Given the description of an element on the screen output the (x, y) to click on. 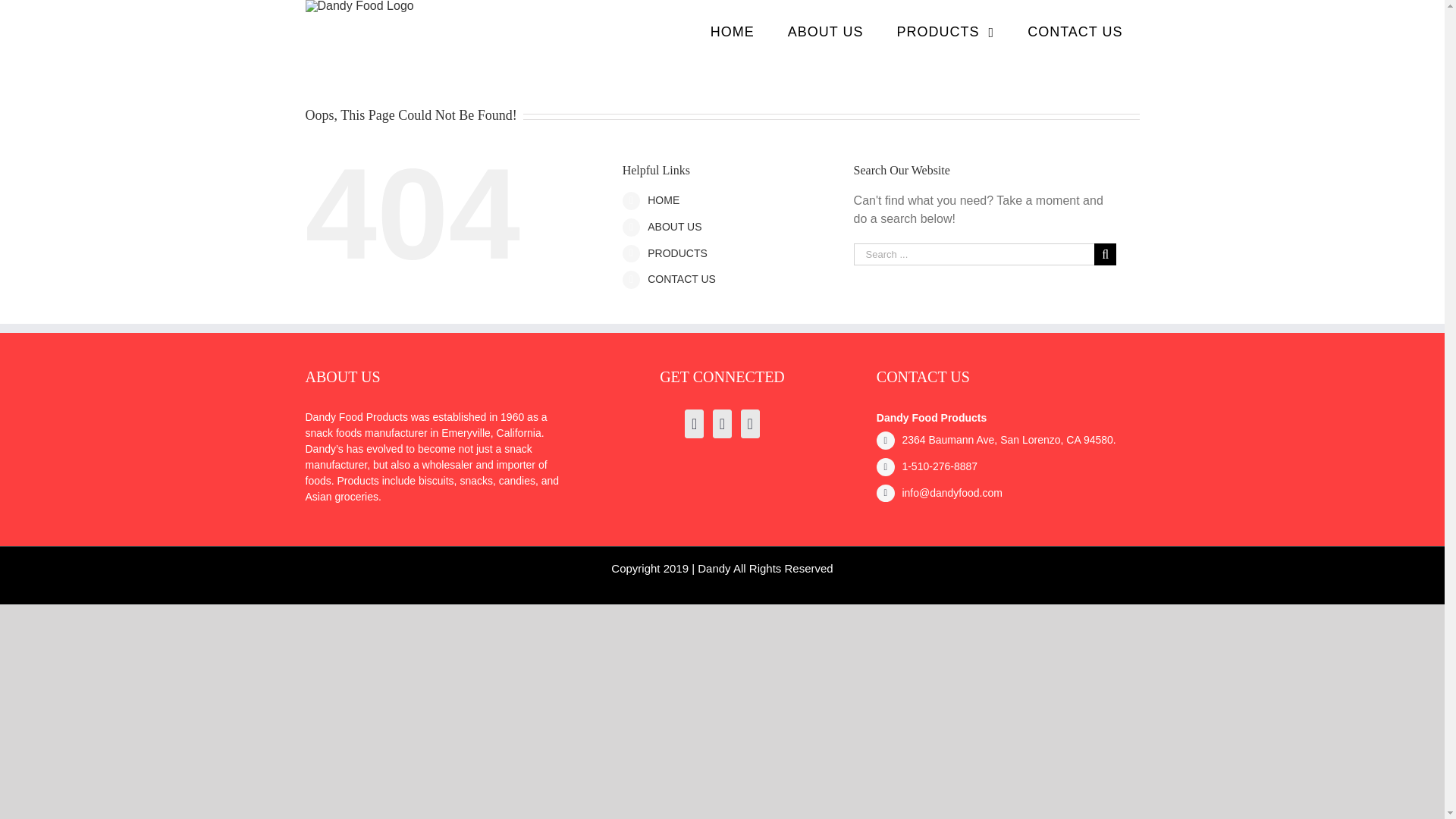
ABOUT US (674, 226)
PRODUCTS (677, 253)
PRODUCTS (945, 31)
HOME (663, 200)
ABOUT US (825, 31)
CONTACT US (681, 278)
HOME (732, 31)
CONTACT US (1074, 31)
